Given the description of an element on the screen output the (x, y) to click on. 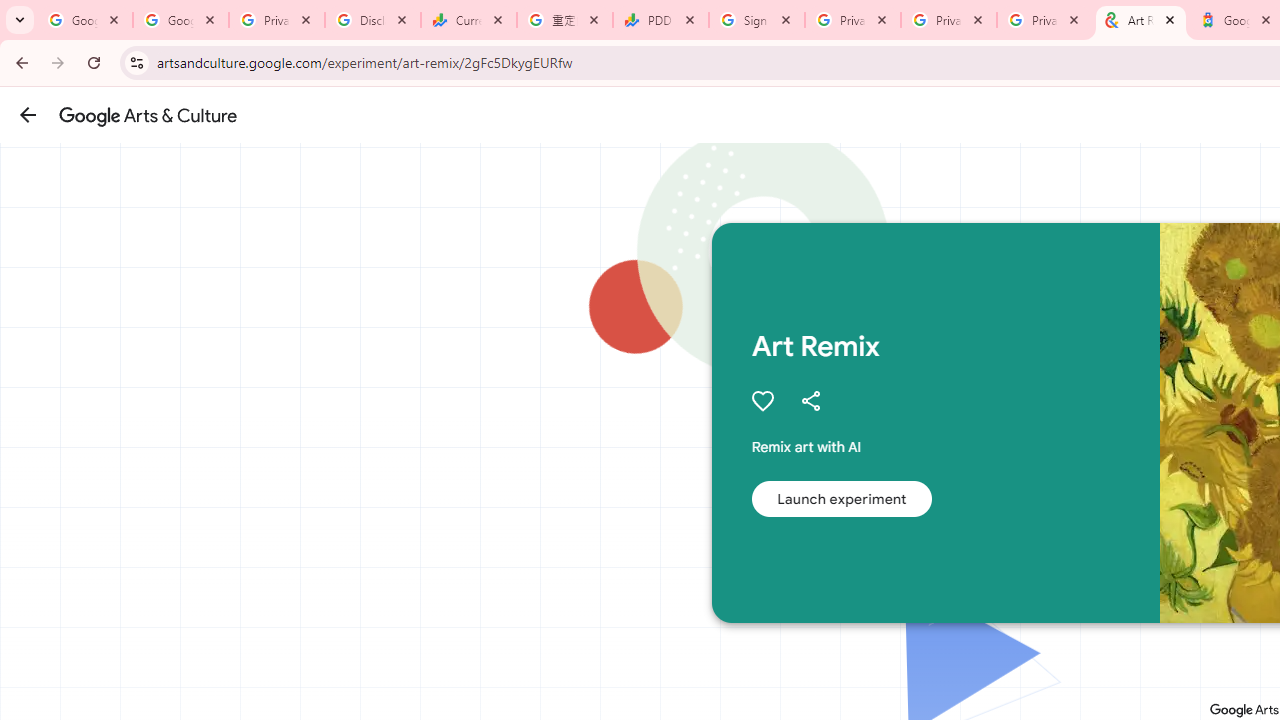
Share "Art Remix" (809, 400)
Privacy Checkup (1045, 20)
Sign in - Google Accounts (757, 20)
Privacy Checkup (949, 20)
Google Arts & Culture (148, 115)
Launch experiment (841, 498)
